Given the description of an element on the screen output the (x, y) to click on. 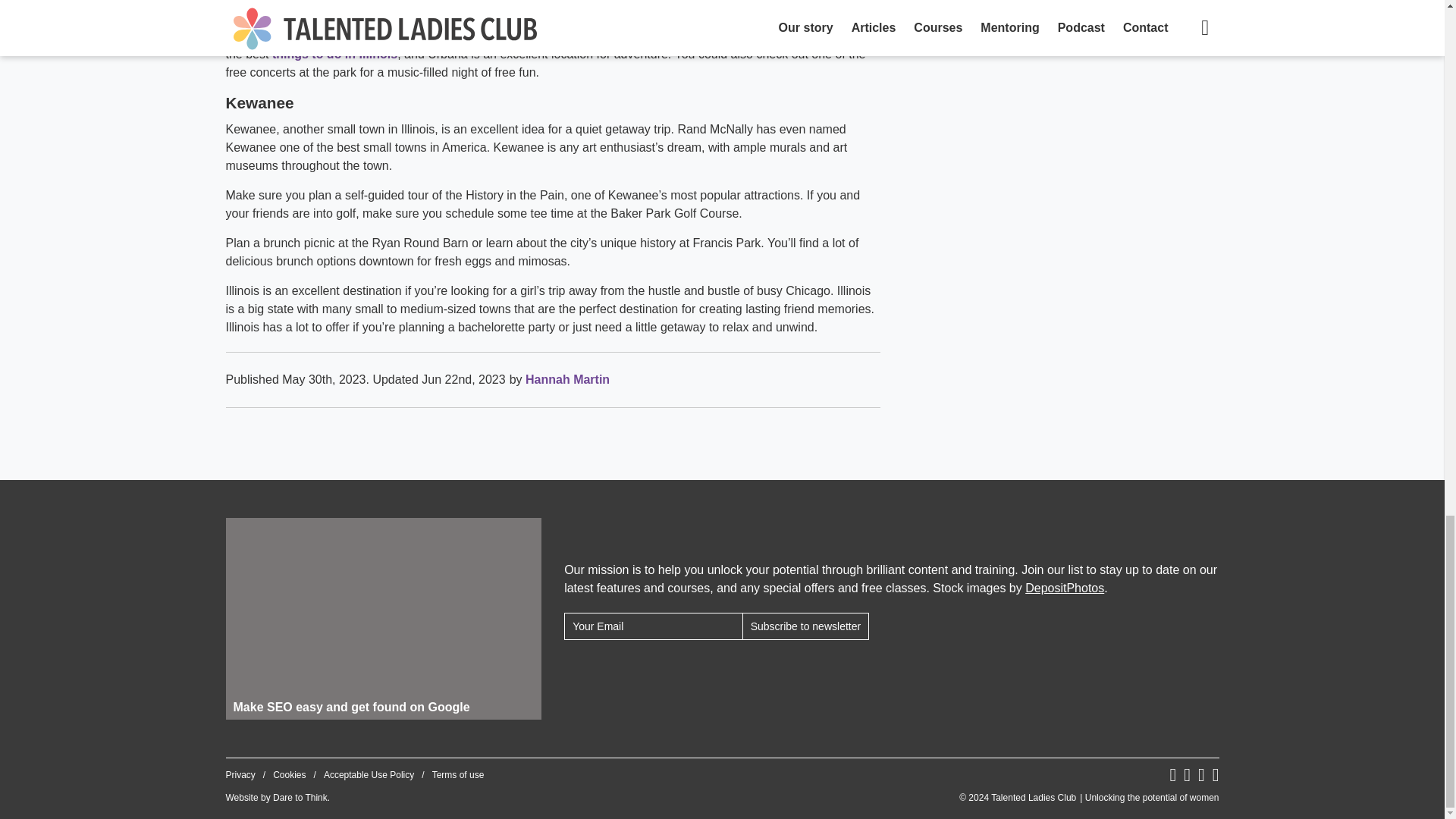
Subscribe to newsletter (805, 625)
Website design and development services from Dare to Think (300, 797)
Talented Ladies Club (1088, 797)
